Given the description of an element on the screen output the (x, y) to click on. 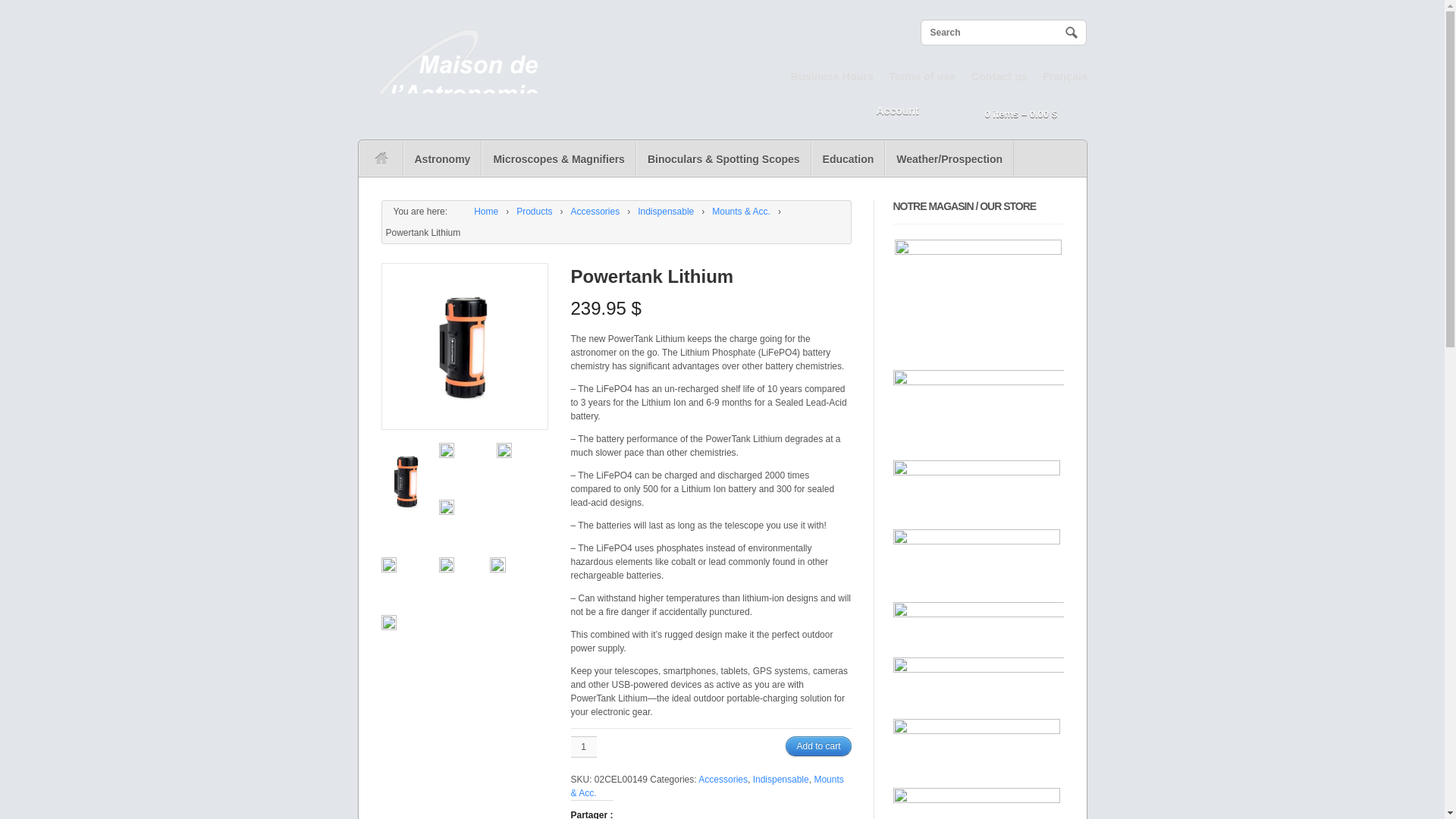
Business Hours (831, 76)
Contact us (999, 76)
Terms of use (921, 76)
View your shopping cart (1008, 114)
Astronomy (442, 158)
View Indispensable (665, 210)
1 (582, 746)
View Accessories (595, 210)
La Maison de l'Astronomie (476, 210)
Search (1070, 32)
